Given the description of an element on the screen output the (x, y) to click on. 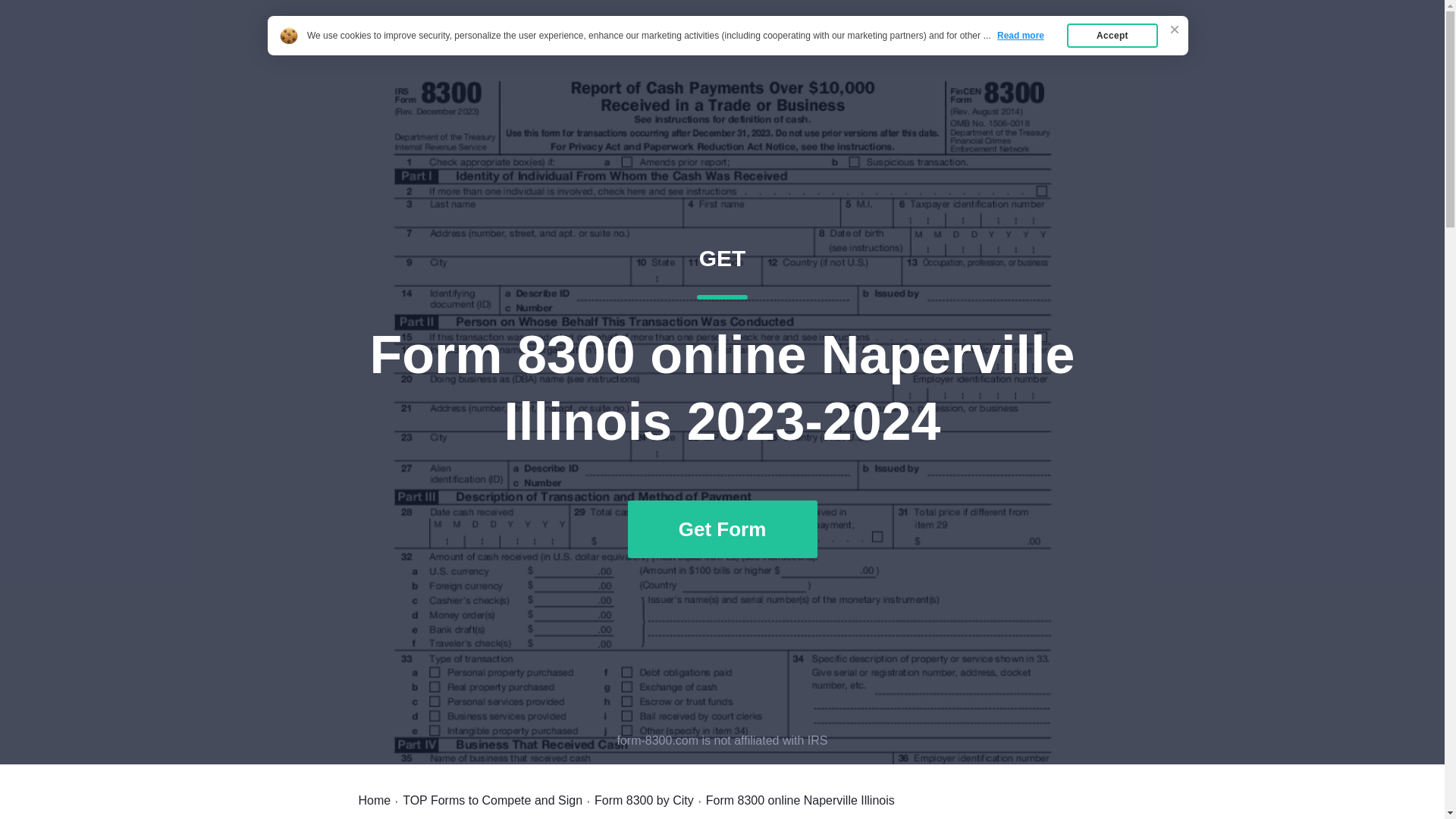
TOP Forms to Compete and Sign (492, 800)
Home (987, 47)
Form 8300 by City (644, 800)
Home (1062, 47)
Form 8300 (374, 800)
